Given the description of an element on the screen output the (x, y) to click on. 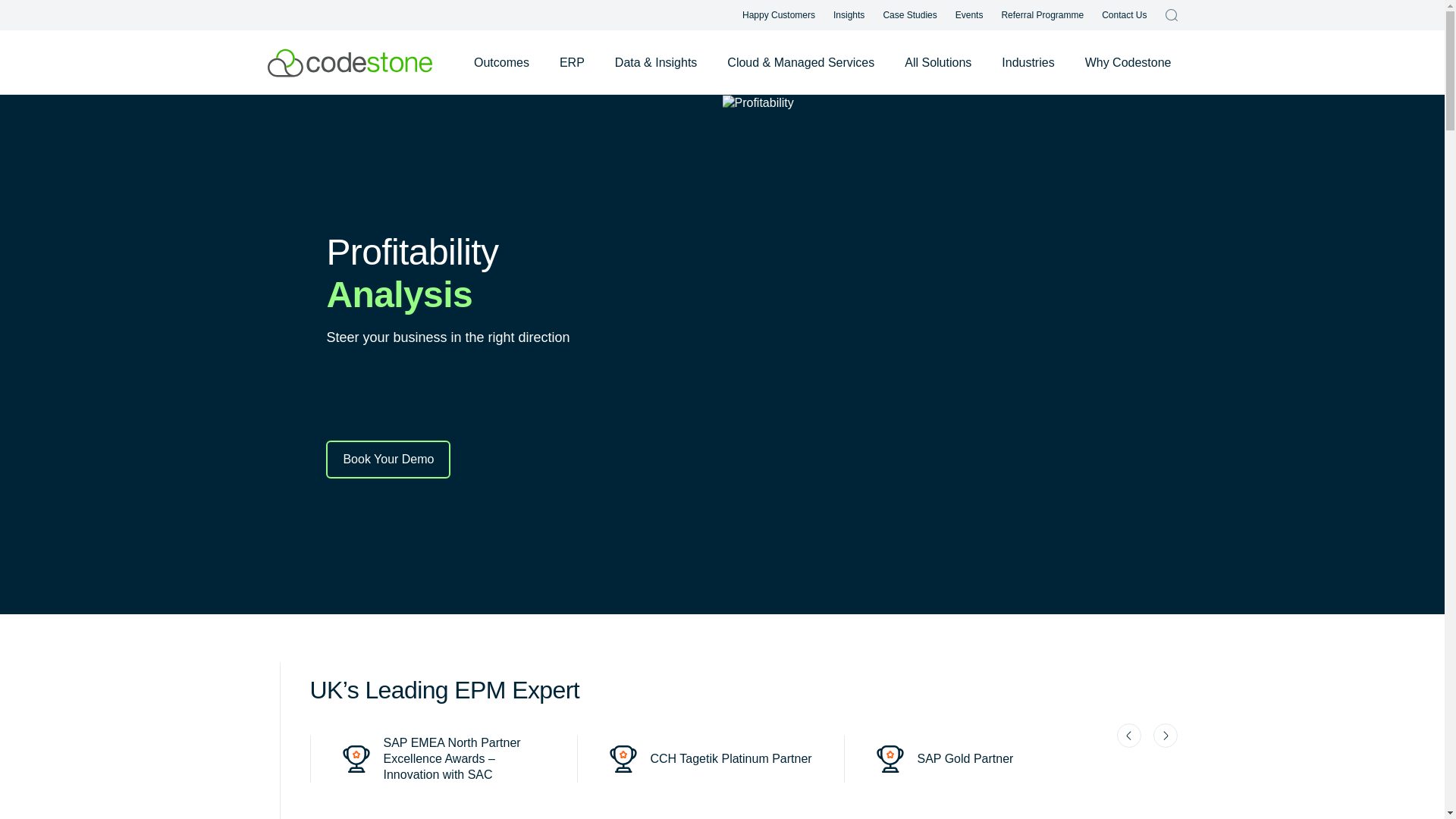
Case Studies (909, 14)
Outcomes (501, 62)
Events (969, 14)
Insights (848, 14)
Happy Customers (778, 14)
Referral Programme (1042, 14)
Contact Us (1124, 14)
